Given the description of an element on the screen output the (x, y) to click on. 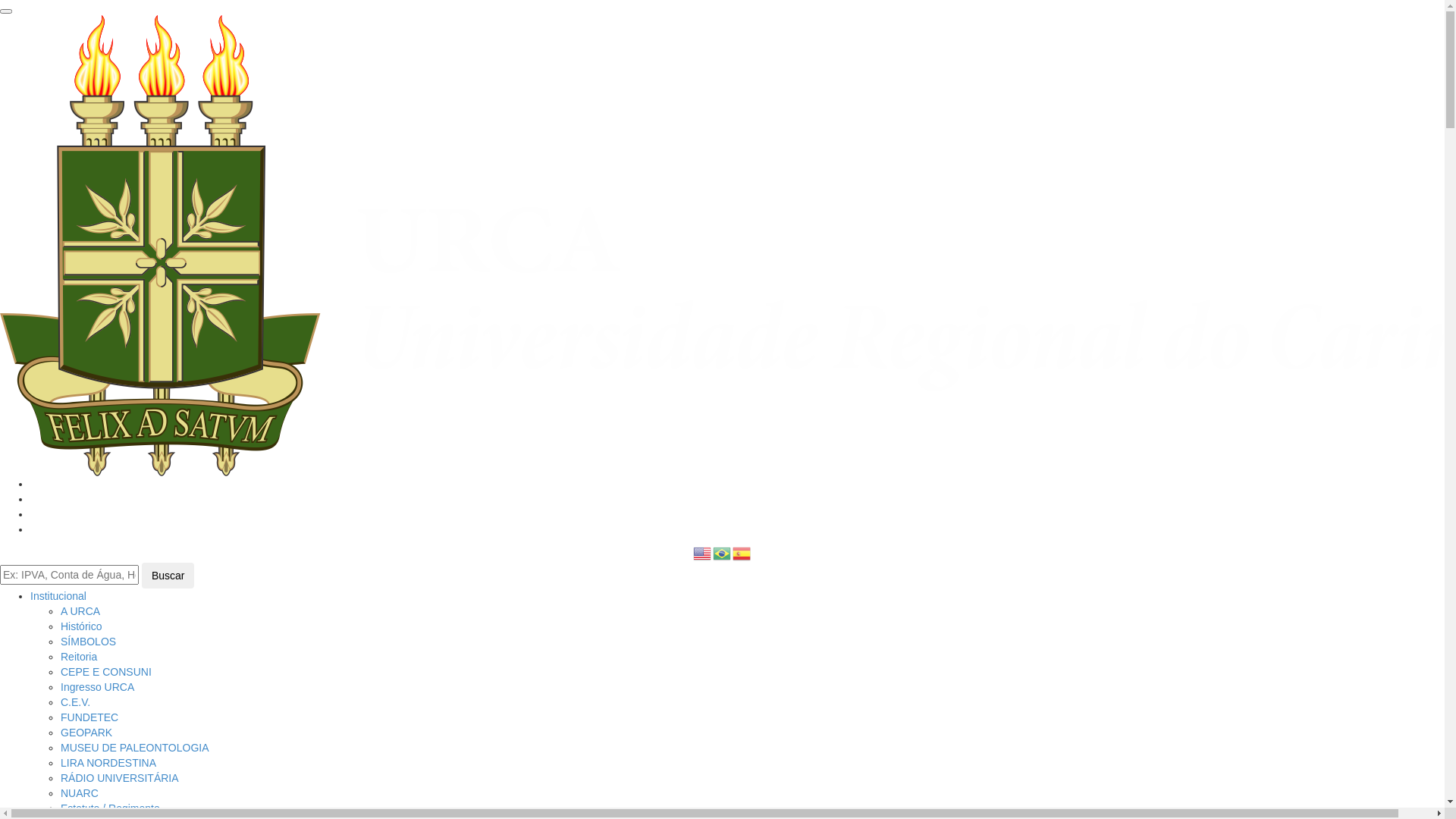
Fonte tamanho normal Element type: hover (35, 483)
FUNDETEC Element type: text (89, 717)
Diminuir a fonte Element type: hover (35, 498)
NUARC Element type: text (79, 793)
Institucional Element type: text (58, 595)
Contraste da tela Element type: hover (35, 529)
Estatuto / Regimento Element type: text (110, 808)
English Element type: hover (702, 552)
Buscar Element type: text (167, 575)
Portuguese Element type: hover (722, 552)
Spanish Element type: hover (742, 552)
MUSEU DE PALEONTOLOGIA Element type: text (134, 747)
LIRA NORDESTINA Element type: text (108, 762)
CEPE E CONSUNI Element type: text (105, 671)
GEOPARK Element type: text (86, 732)
C.E.V. Element type: text (75, 702)
Aumentar a fonte Element type: hover (38, 514)
Reitoria Element type: text (78, 656)
Ingresso URCA Element type: text (97, 686)
A URCA Element type: text (80, 611)
